Given the description of an element on the screen output the (x, y) to click on. 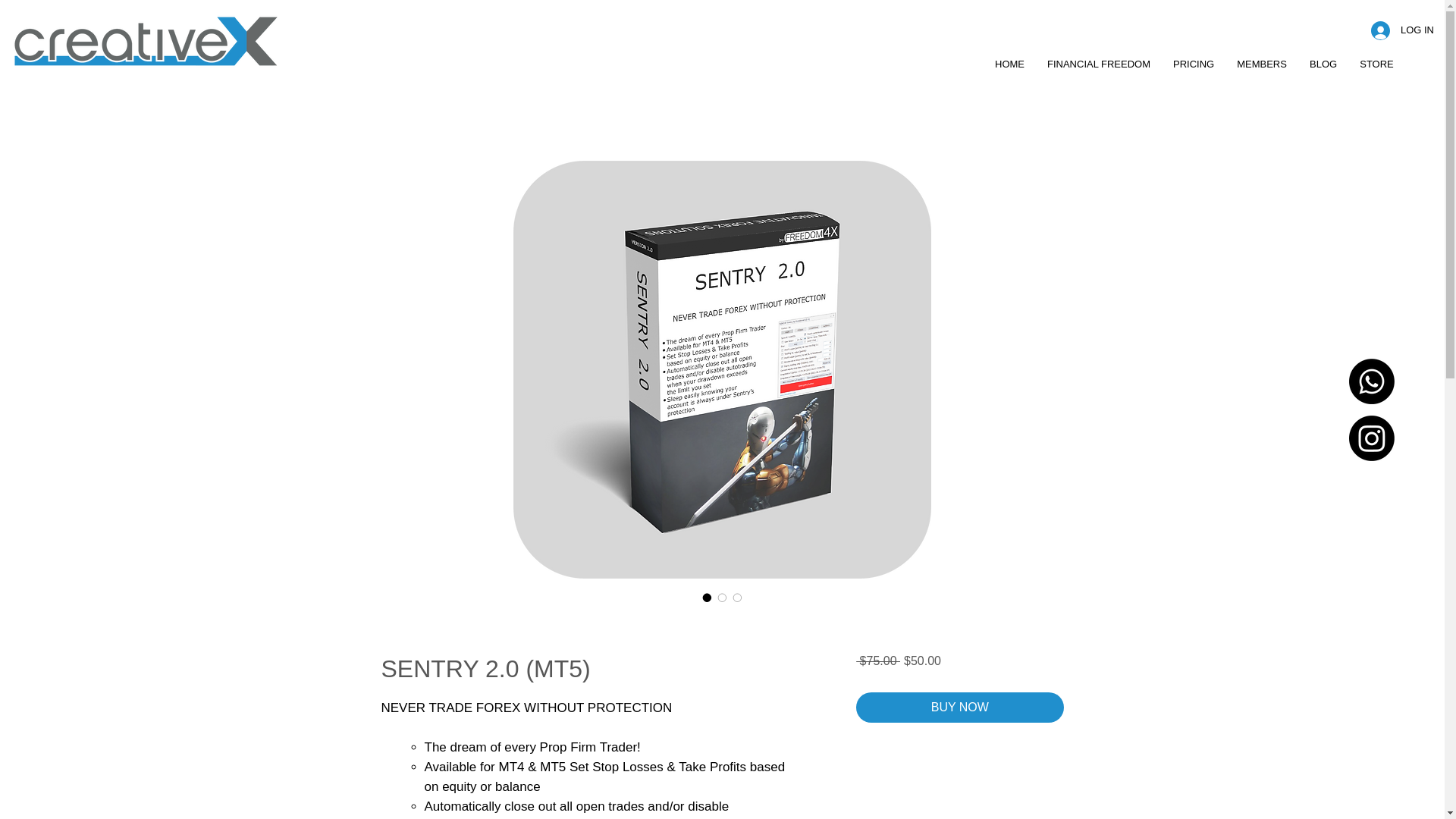
STORE (1376, 64)
BUY NOW (959, 707)
MEMBERS (1261, 64)
PRICING (1193, 64)
FINANCIAL FREEDOM (1098, 64)
HOME (1009, 64)
BLOG (1323, 64)
